Given the description of an element on the screen output the (x, y) to click on. 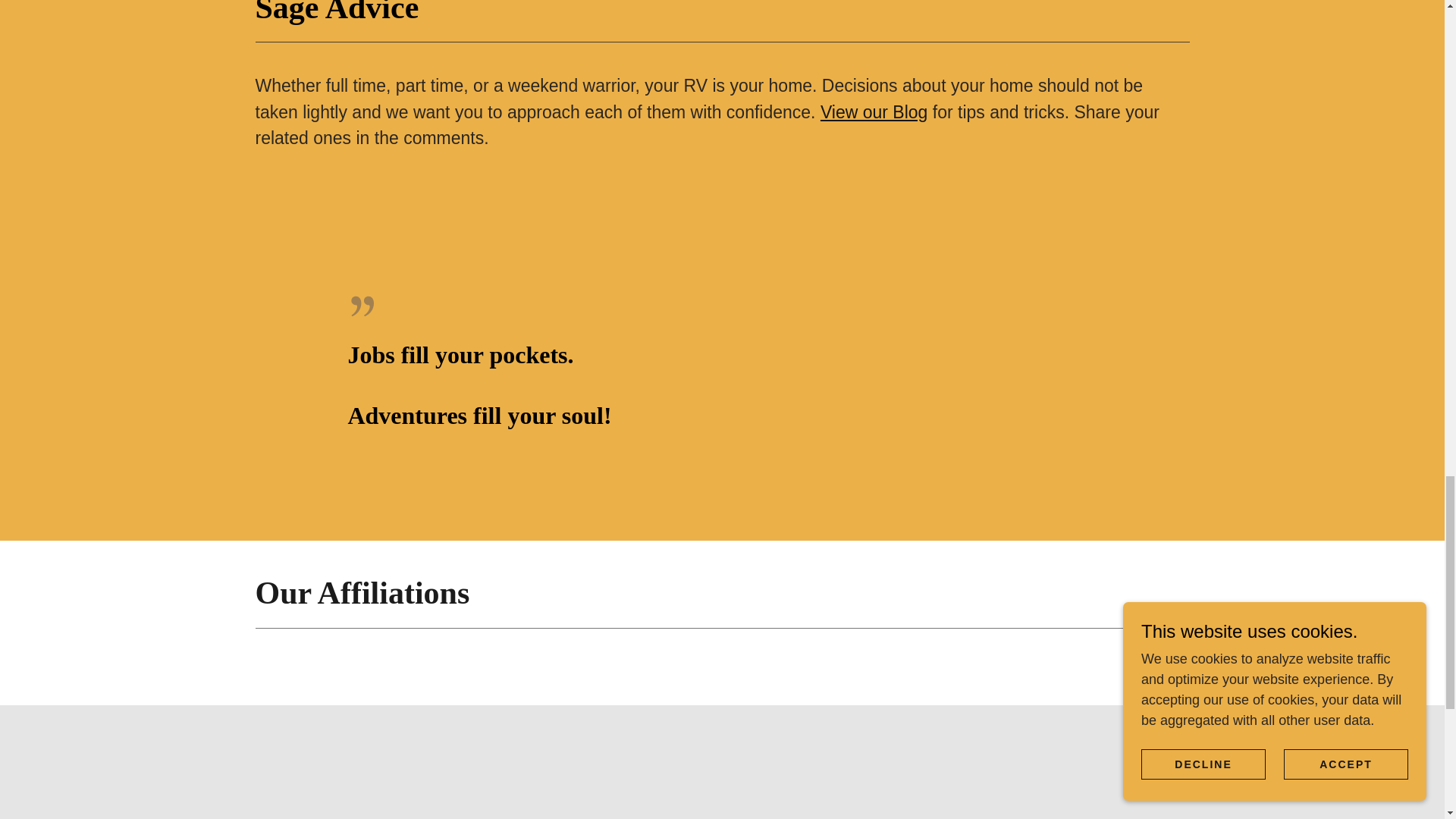
View our Blog (874, 112)
